Given the description of an element on the screen output the (x, y) to click on. 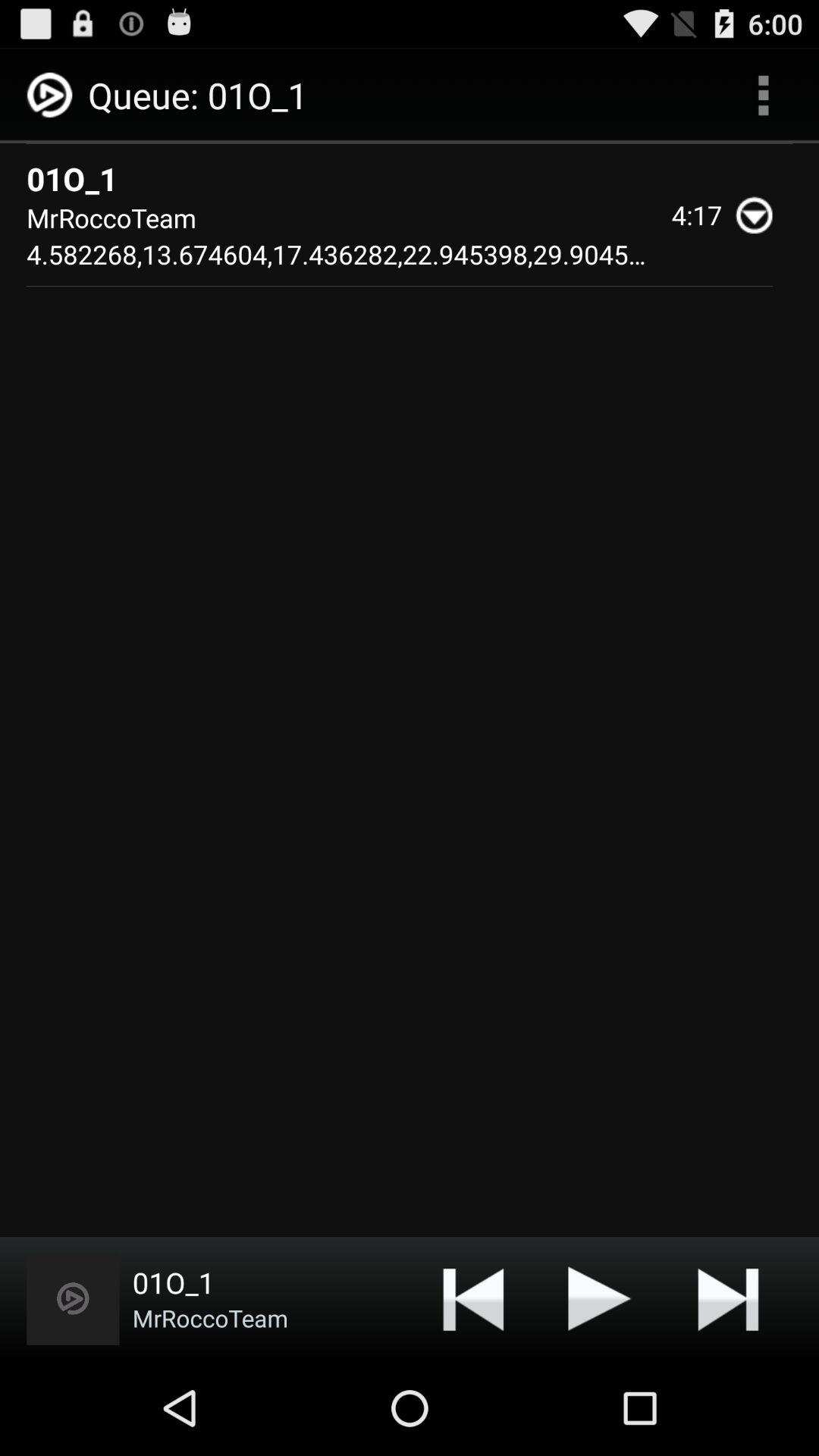
launch app to the right of mrroccoteam icon (472, 1298)
